Given the description of an element on the screen output the (x, y) to click on. 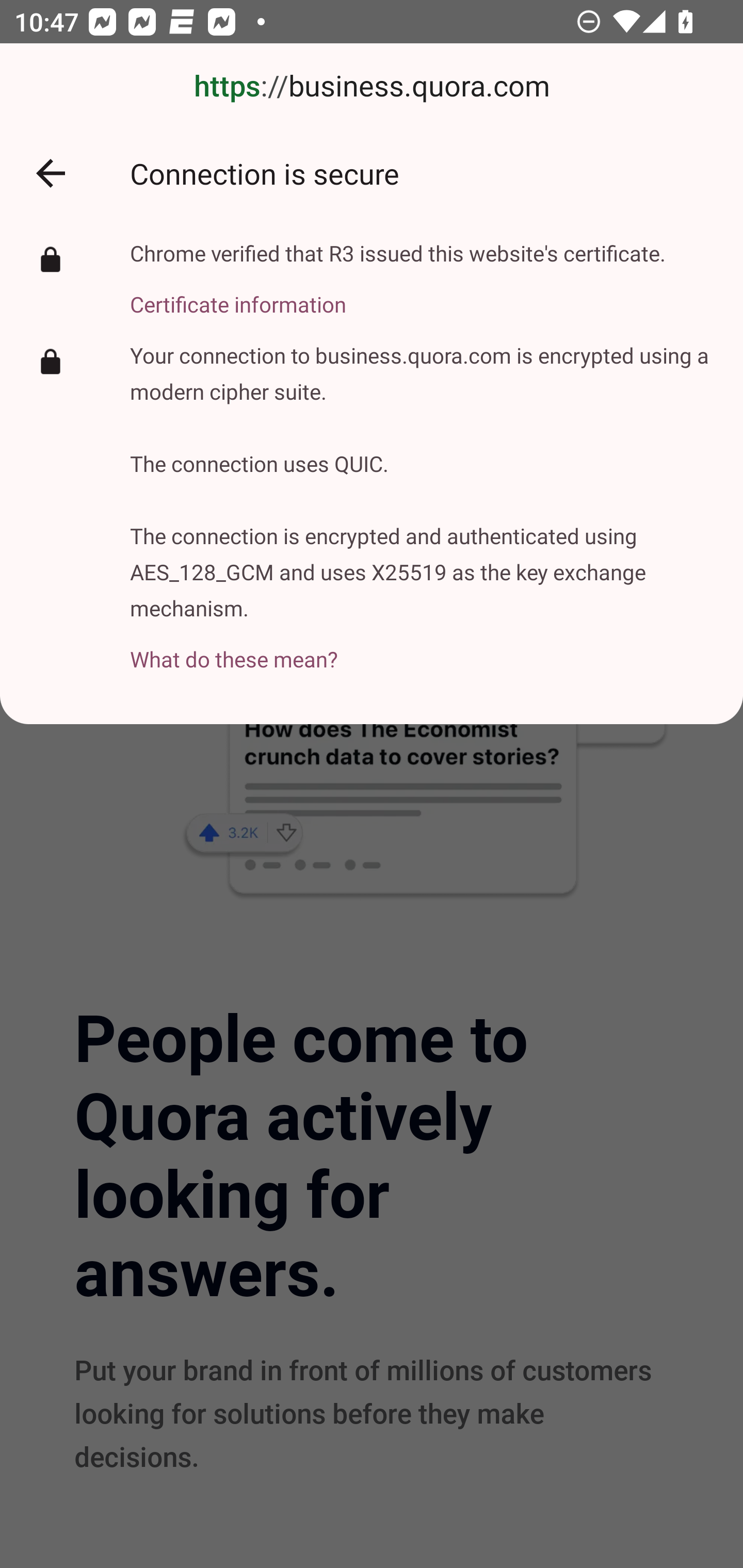
https://business.quora.com (371, 86)
Back (50, 173)
Certificate information (398, 293)
What do these mean? (422, 648)
